Given the description of an element on the screen output the (x, y) to click on. 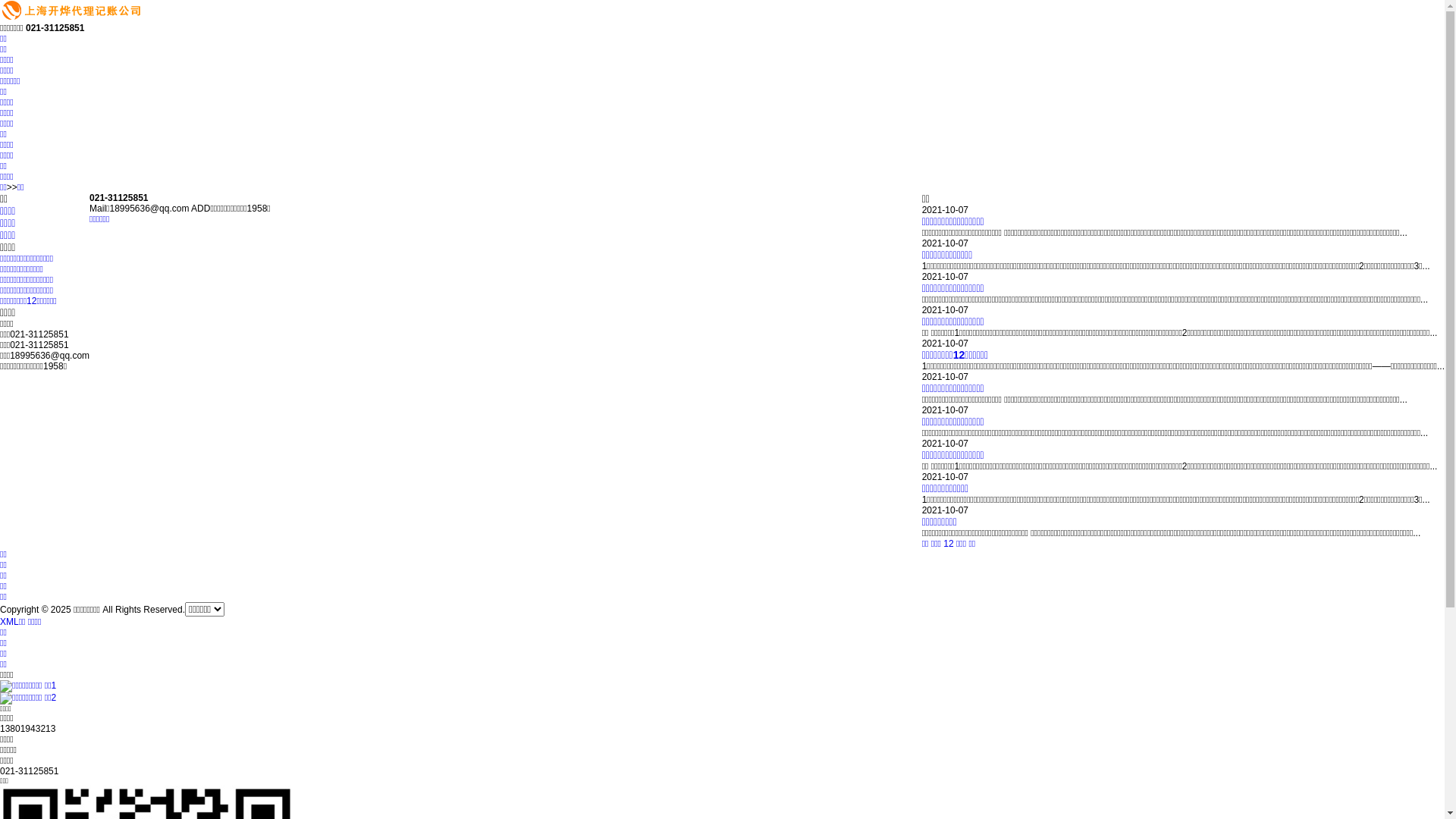
1 Element type: text (945, 543)
2 Element type: text (950, 543)
